Given the description of an element on the screen output the (x, y) to click on. 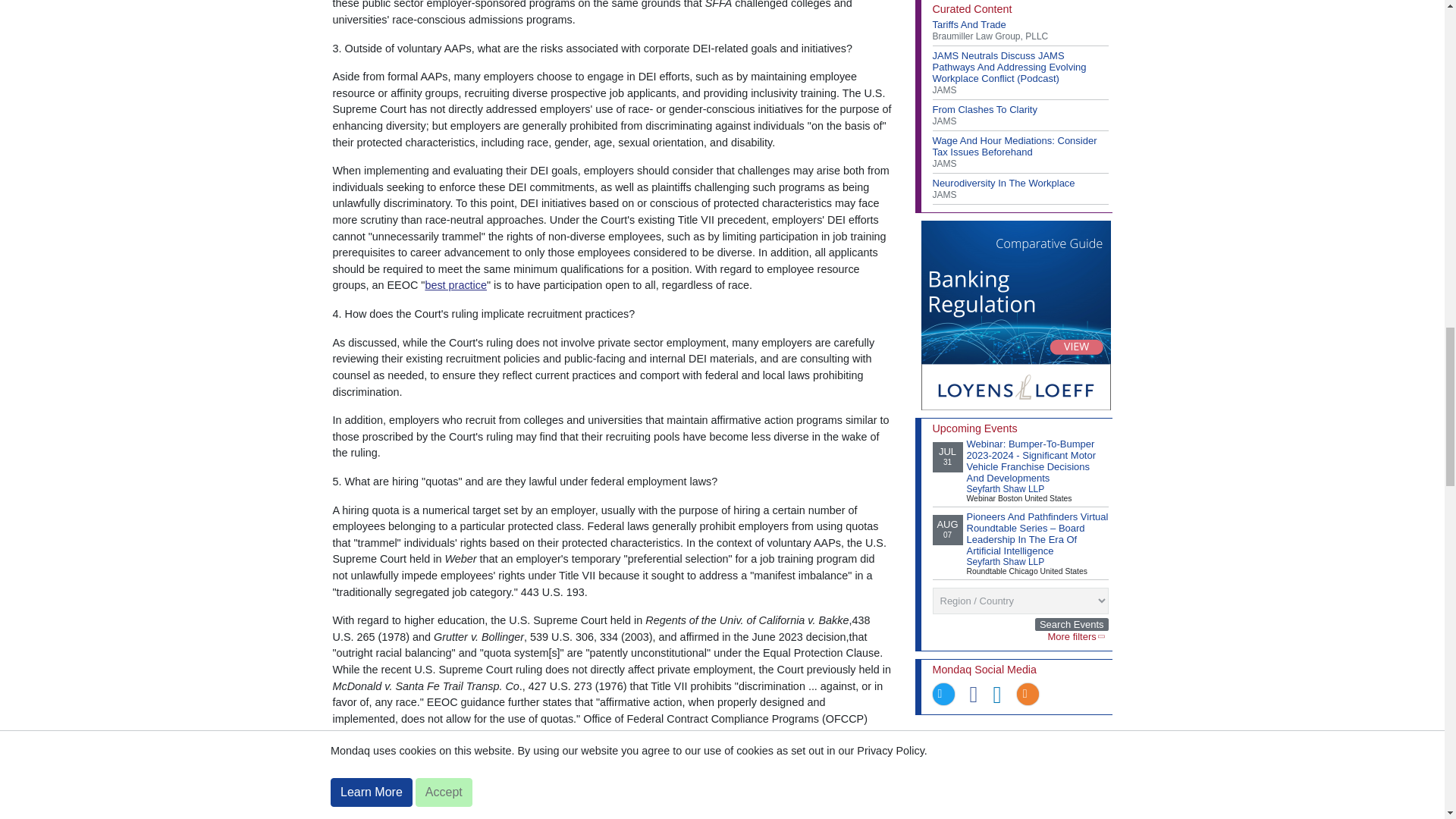
Search Events (1071, 624)
